Given the description of an element on the screen output the (x, y) to click on. 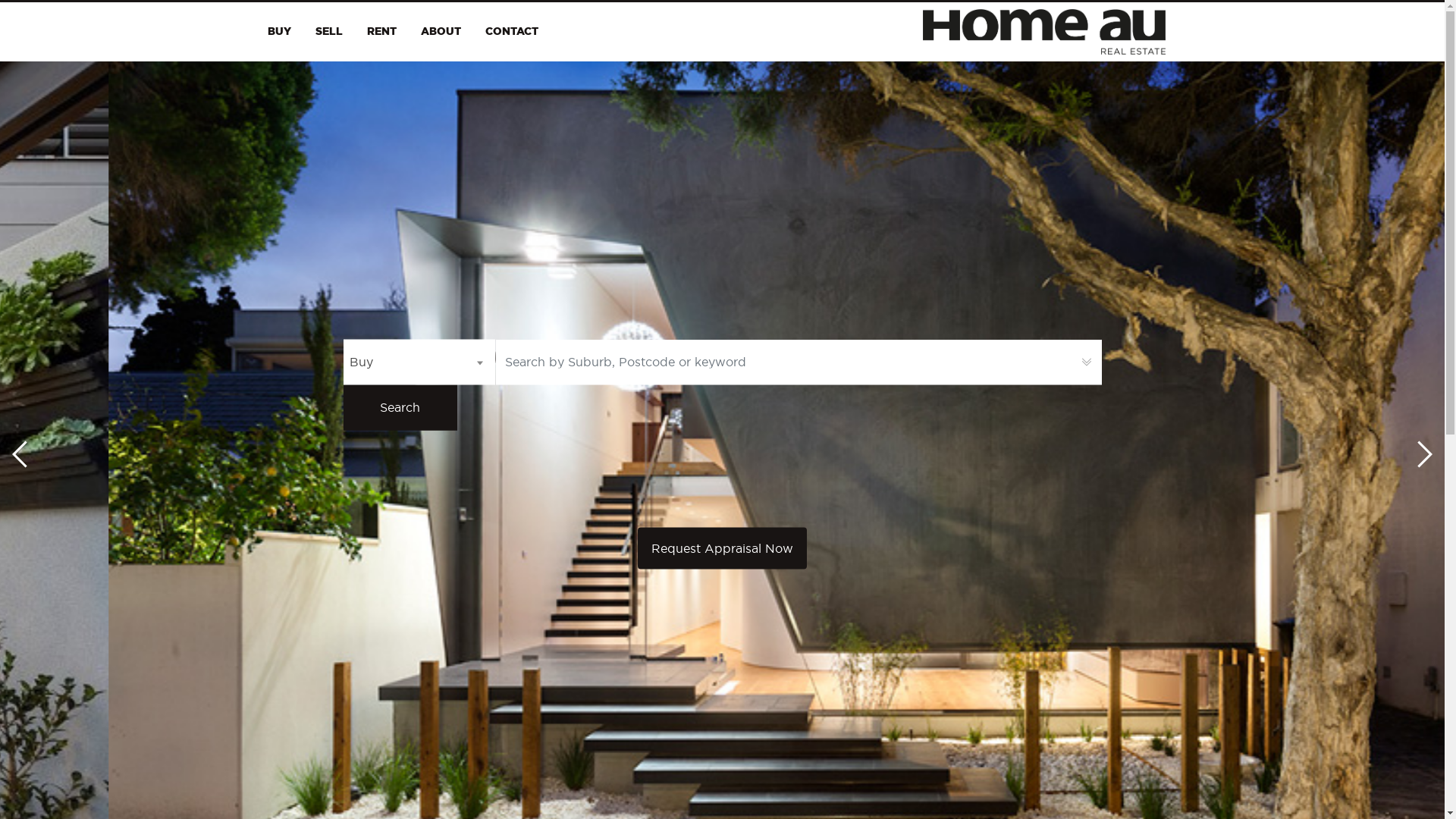
CONTACT Element type: text (511, 31)
ABOUT Element type: text (440, 31)
BUY Element type: text (278, 31)
Request Appraisal Now Element type: text (721, 547)
SELL Element type: text (328, 31)
RENT Element type: text (381, 31)
Search Element type: text (399, 406)
